Given the description of an element on the screen output the (x, y) to click on. 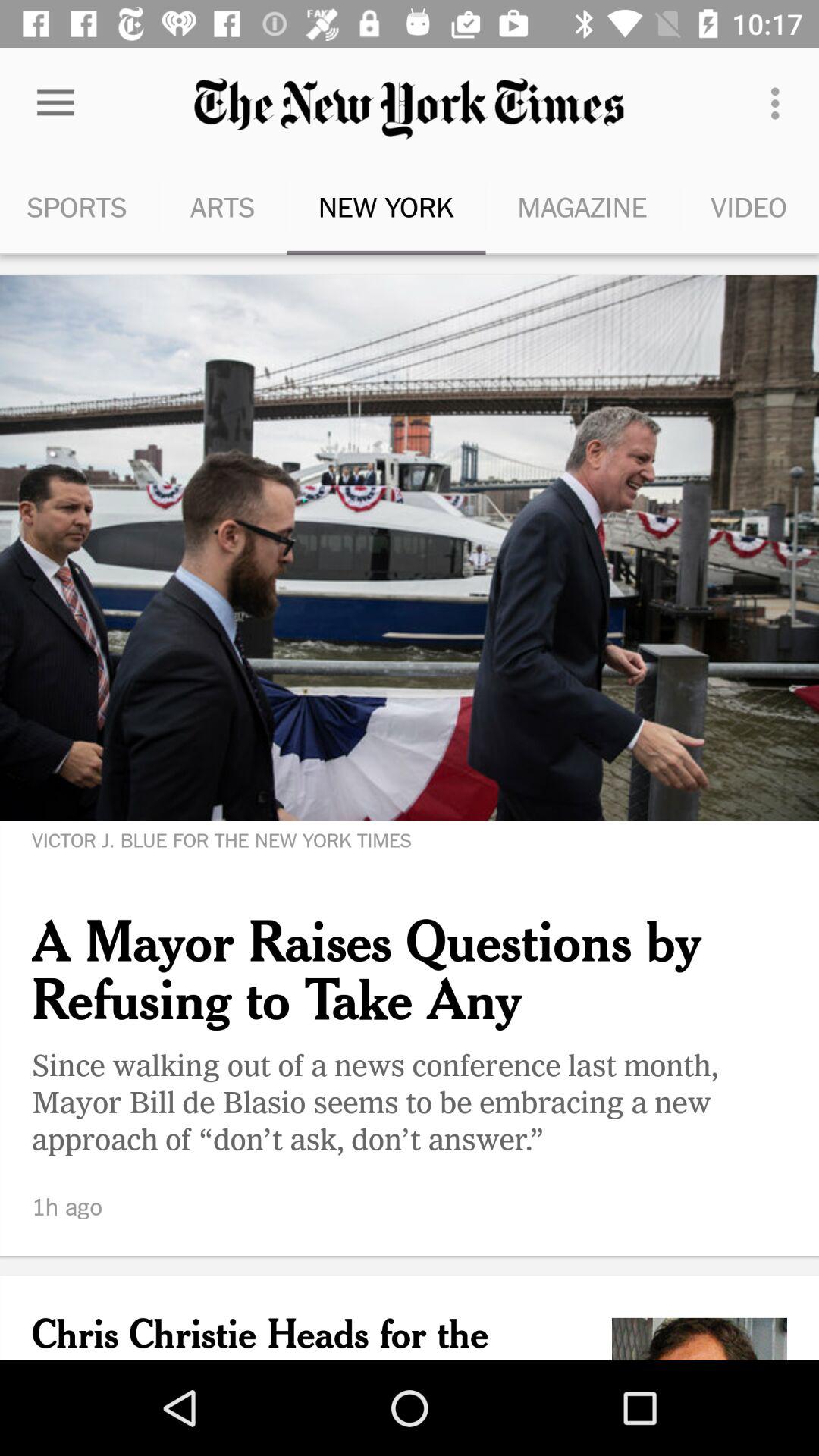
click the arts icon (222, 206)
